Given the description of an element on the screen output the (x, y) to click on. 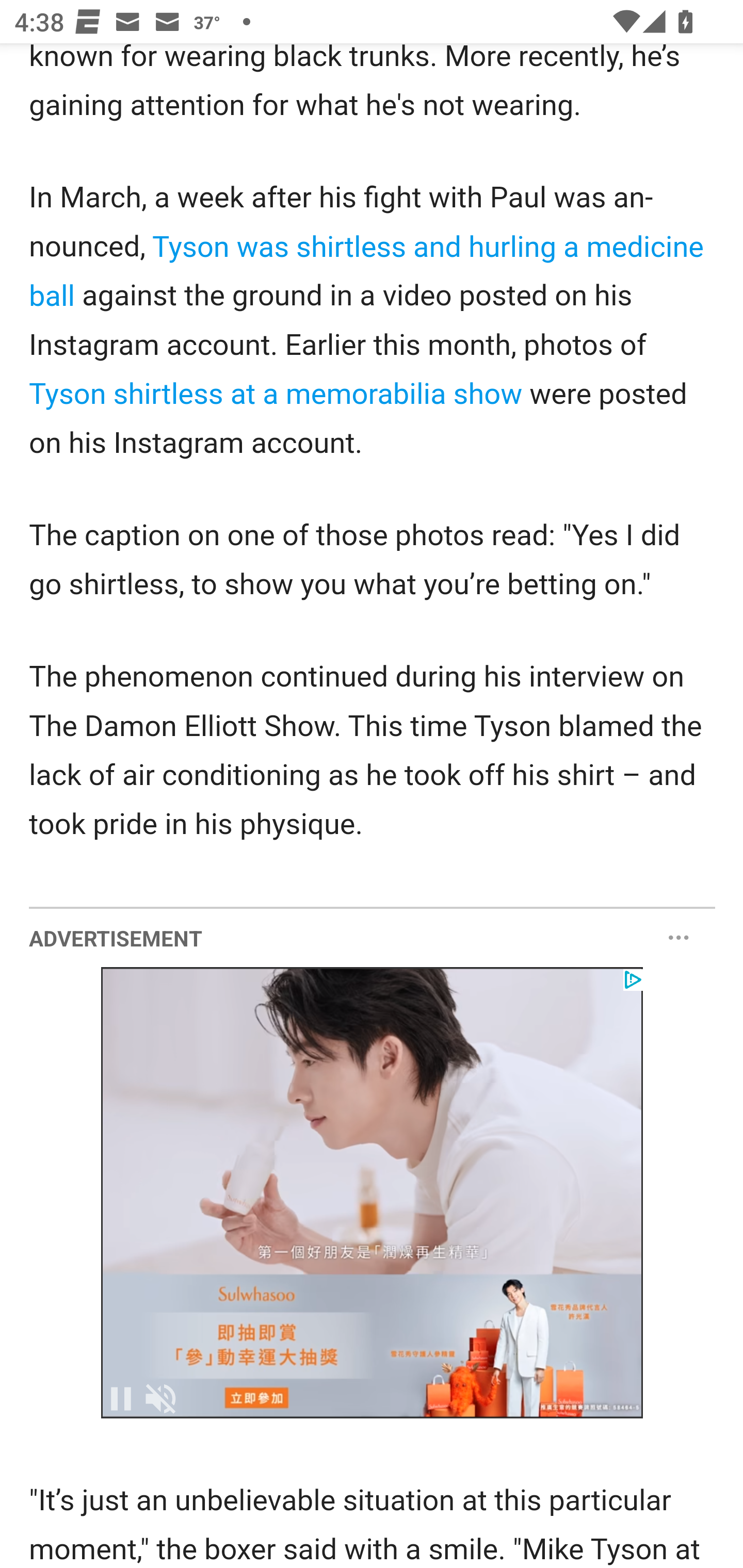
Tyson was shirtless and hurling a medicine ball (366, 273)
Tyson shirtless at a memorabilia show  (279, 394)
